Given the description of an element on the screen output the (x, y) to click on. 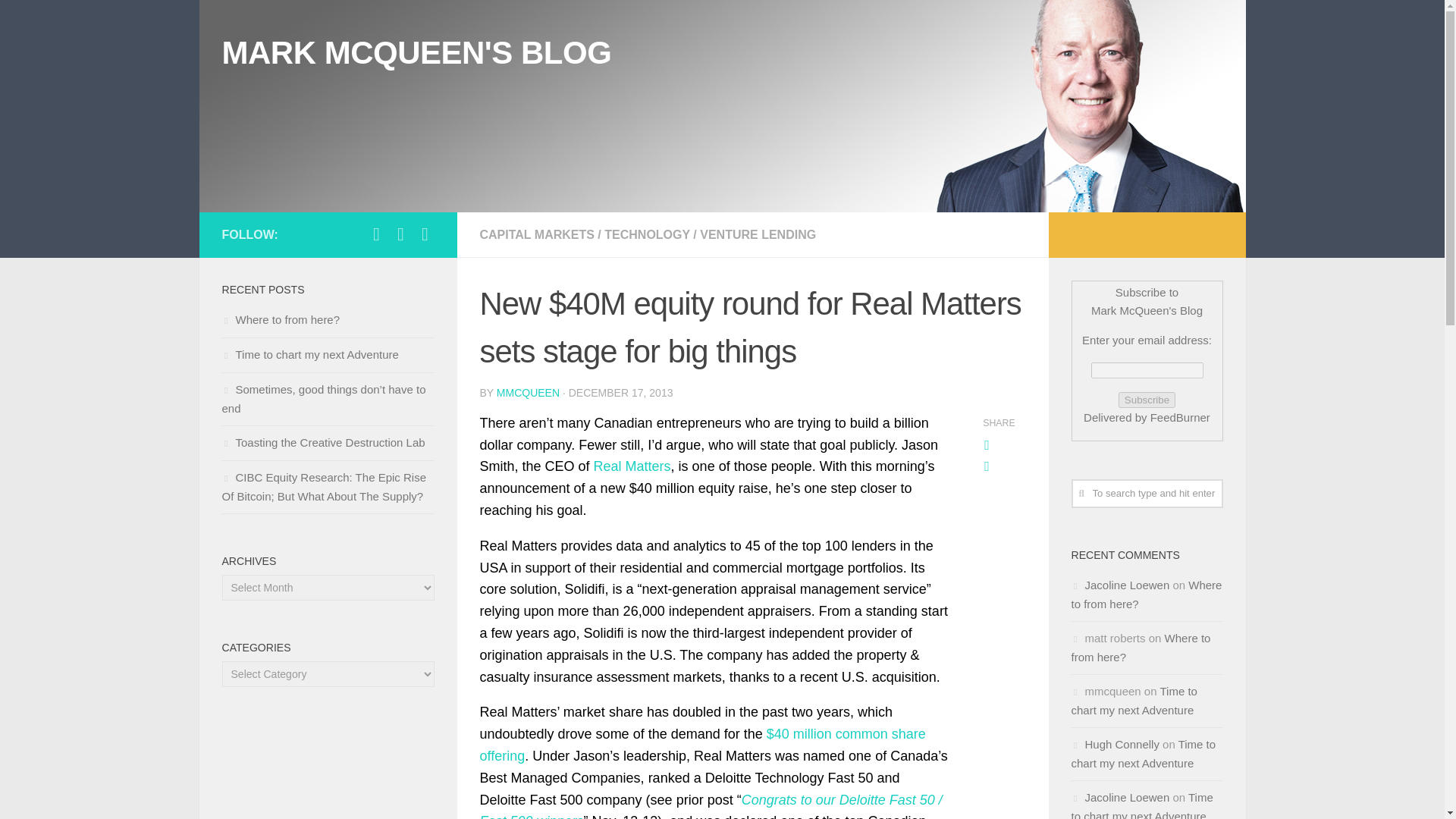
MARK MCQUEEN'S BLOG (416, 53)
Time to chart my next Adventure (1133, 700)
Toasting the Creative Destruction Lab (323, 441)
Subscribe (1146, 399)
FeedBurner (1179, 417)
Where to from here? (1145, 594)
Add Mark McQueen on Linkedin (400, 234)
Time to chart my next Adventure (1142, 753)
To search type and hit enter (1146, 493)
Where to from here? (280, 318)
Real Matters (632, 466)
Hugh Connelly (1121, 744)
CAPITAL MARKETS (536, 234)
MMCQUEEN (527, 392)
